Given the description of an element on the screen output the (x, y) to click on. 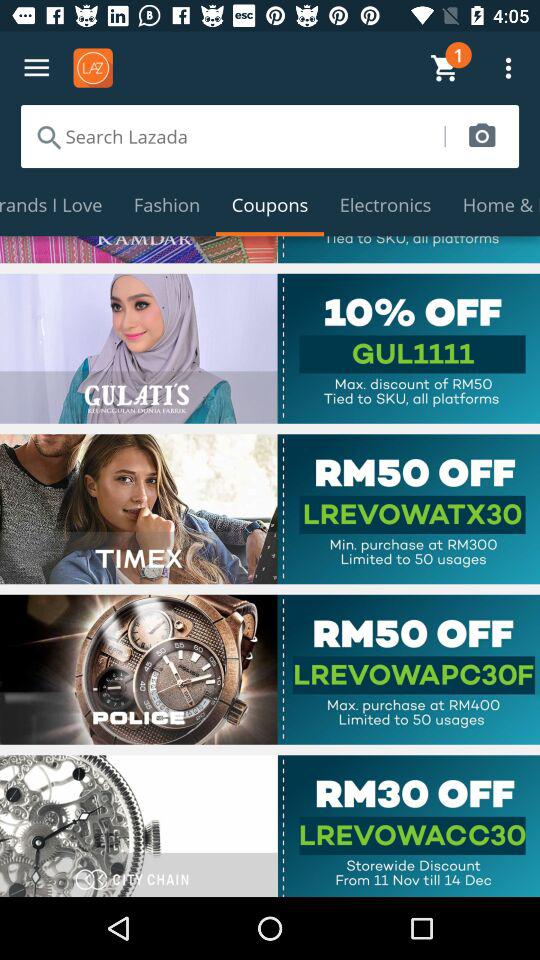
go to webpage (270, 669)
